Given the description of an element on the screen output the (x, y) to click on. 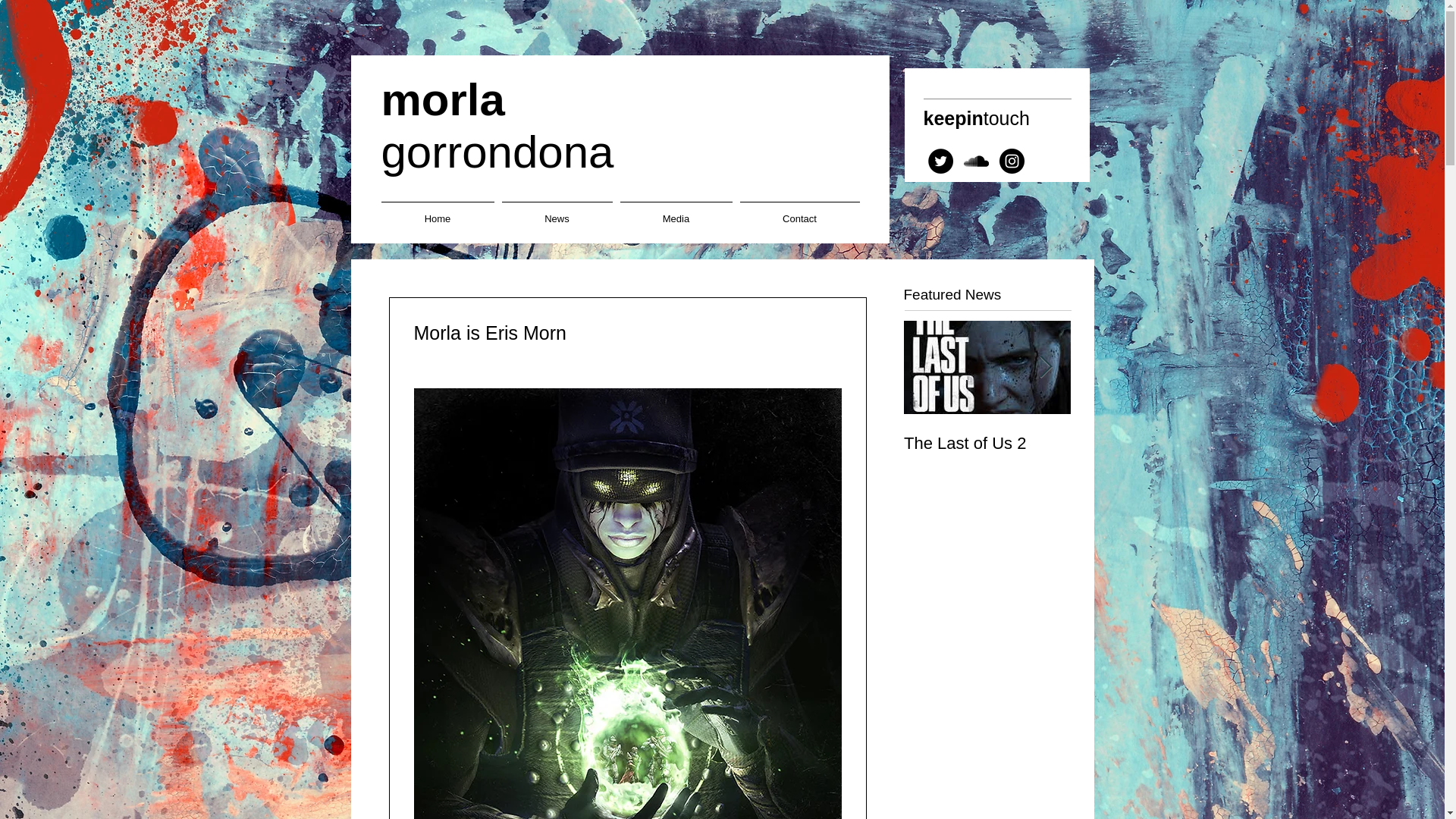
morla (441, 99)
The Last of Us 2 (987, 443)
News (556, 211)
Home (437, 211)
Contact (987, 428)
The Walking Dead: Saints and Sinners (987, 428)
gorrondona (799, 211)
